Given the description of an element on the screen output the (x, y) to click on. 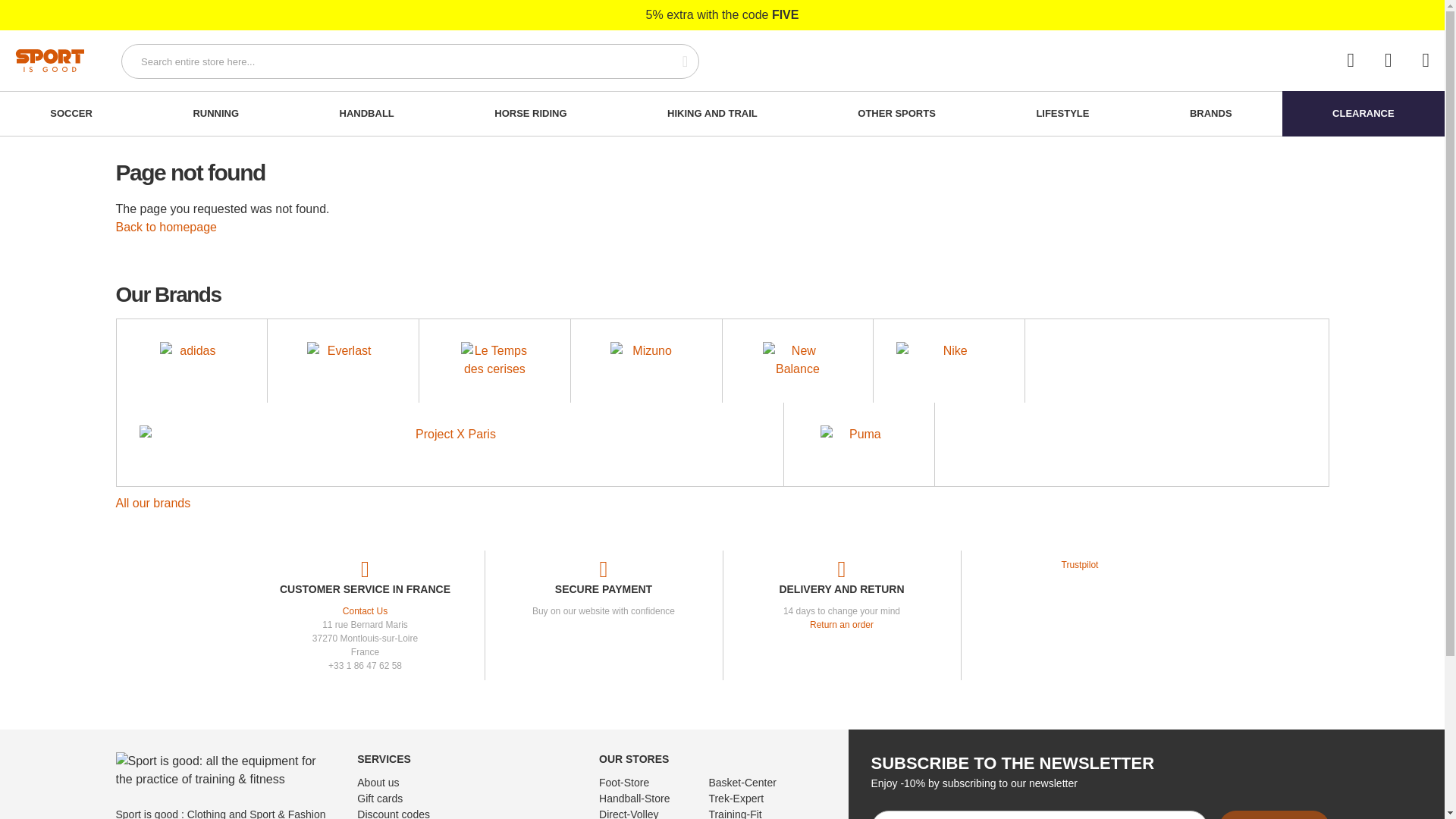
SOCCER (71, 113)
SEARCH (675, 61)
Subscribe (1273, 814)
Search (675, 61)
Sign up for our newsletter (1039, 814)
